Given the description of an element on the screen output the (x, y) to click on. 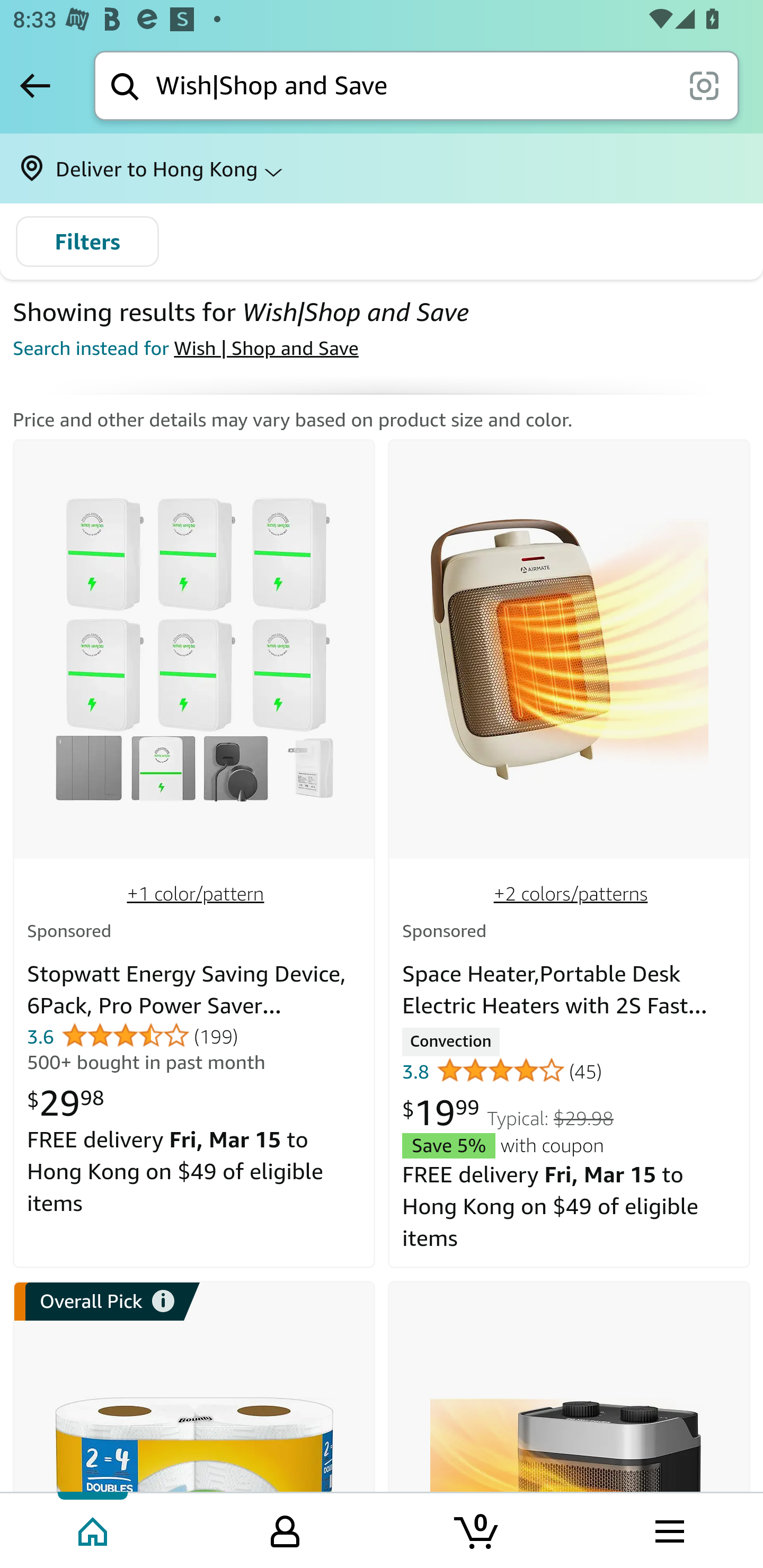
Back (35, 85)
Search Search Wish|Shop and Save scan it (416, 85)
scan it (704, 85)
Deliver to Hong Kong ⌵ (381, 168)
Filters (87, 241)
Filters (87, 241)
+1 color/pattern (195, 893)
+2 colors/patterns (570, 893)
Home Tab 1 of 4 (94, 1529)
Your Amazon.com Tab 2 of 4 (285, 1529)
Cart 0 item Tab 3 of 4 0 (477, 1529)
Browse menu Tab 4 of 4 (668, 1529)
